Given the description of an element on the screen output the (x, y) to click on. 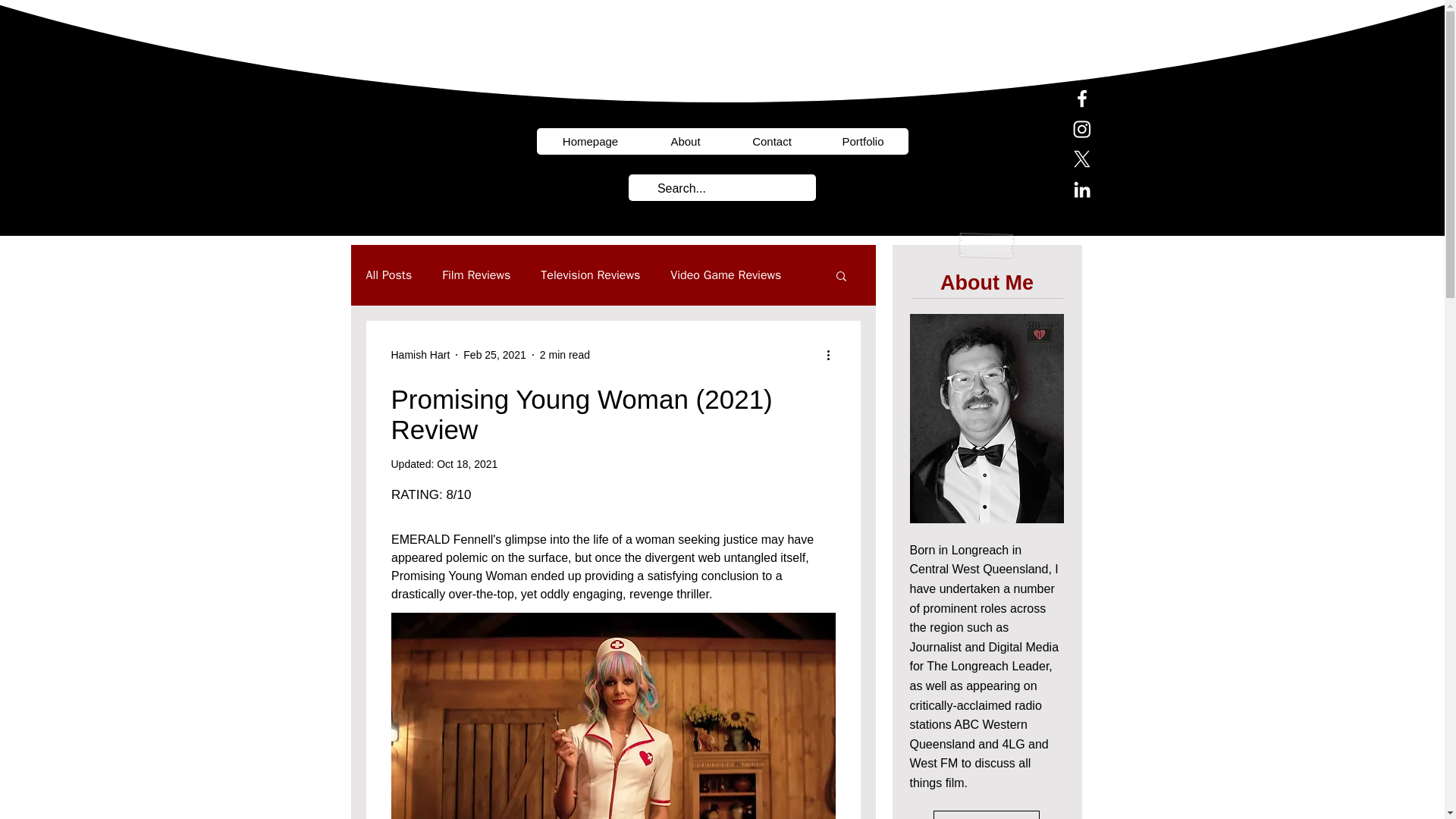
Portfolio (862, 140)
Homepage (591, 140)
Oct 18, 2021 (466, 463)
Contact (771, 140)
All Posts (388, 274)
Feb 25, 2021 (494, 354)
Hamish Hart (420, 355)
Television Reviews (590, 274)
About (685, 140)
Read More (986, 814)
Video Game Reviews (724, 274)
2 min read (564, 354)
Film Reviews (476, 274)
